Given the description of an element on the screen output the (x, y) to click on. 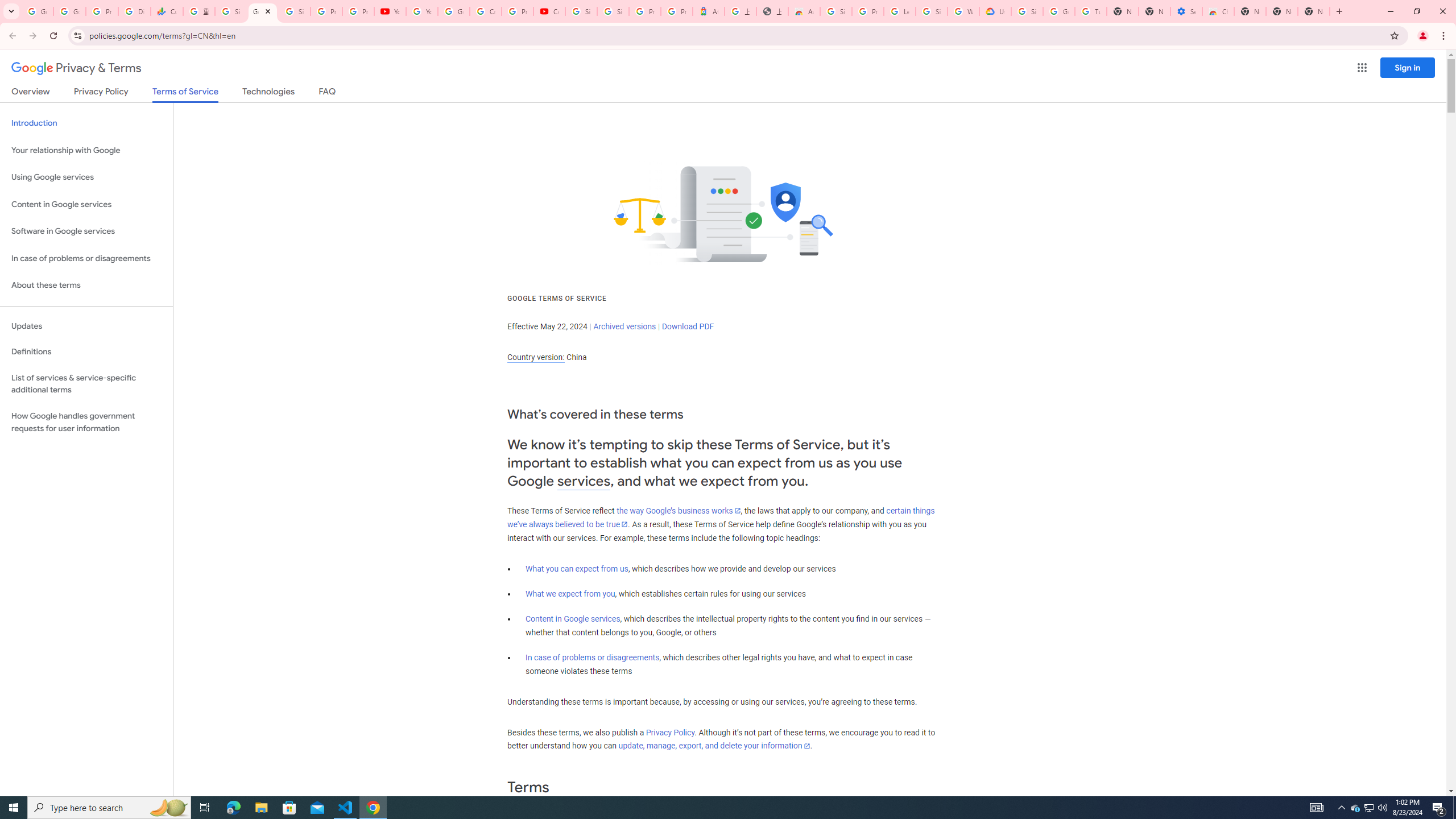
update, manage, export, and delete your information (714, 746)
What we expect from you (570, 593)
About these terms (86, 284)
services (583, 480)
New Tab (1249, 11)
Settings - Accessibility (1185, 11)
How Google handles government requests for user information (86, 422)
Using Google services (86, 176)
Privacy & Terms (76, 68)
Create your Google Account (485, 11)
Chrome Web Store - Accessibility extensions (1217, 11)
Turn cookies on or off - Computer - Google Account Help (1091, 11)
